Given the description of an element on the screen output the (x, y) to click on. 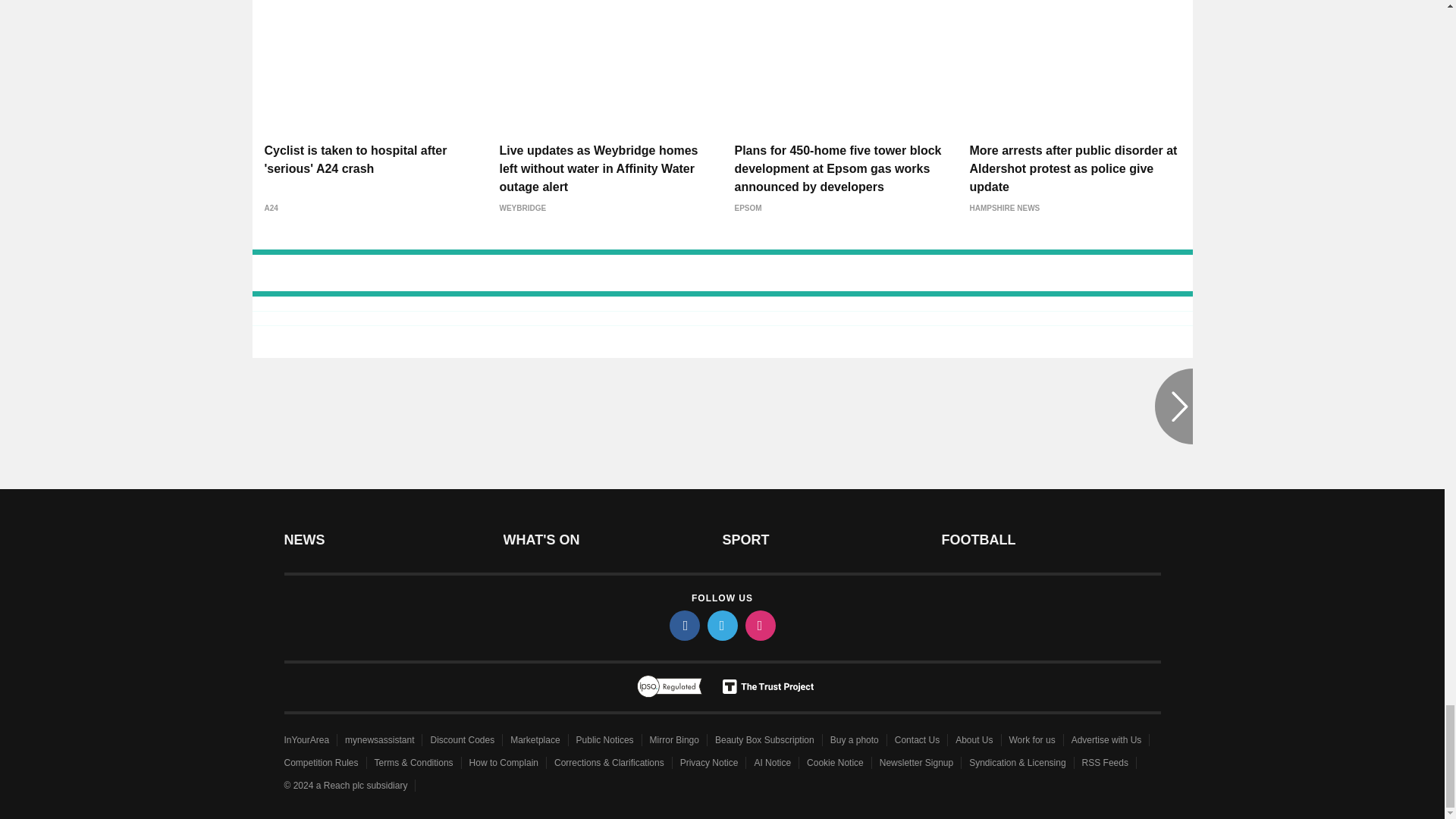
facebook (683, 625)
instagram (759, 625)
twitter (721, 625)
